Given the description of an element on the screen output the (x, y) to click on. 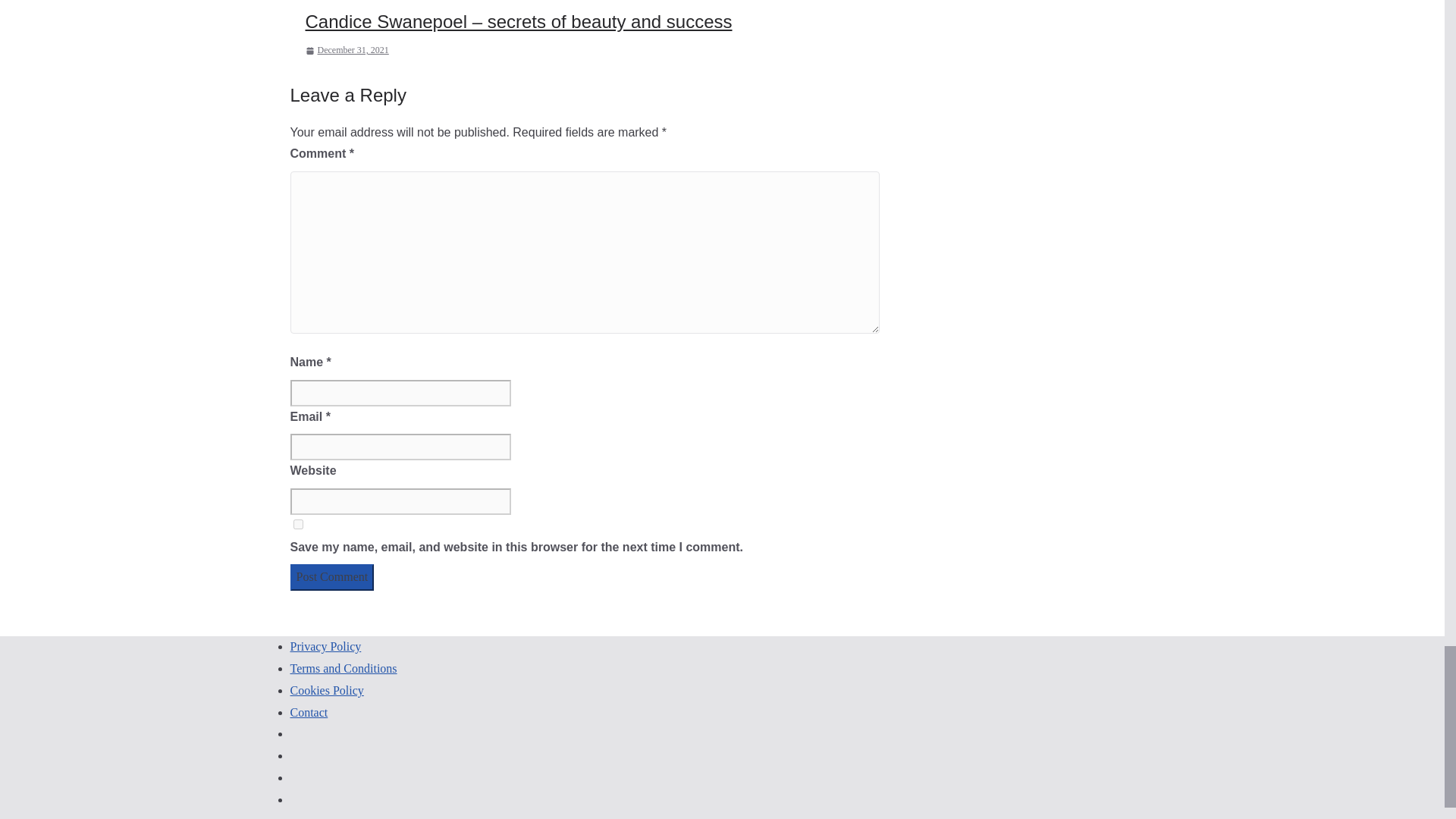
Post Comment (331, 577)
December 31, 2021 (346, 50)
Post Comment (331, 577)
yes (297, 524)
